Given the description of an element on the screen output the (x, y) to click on. 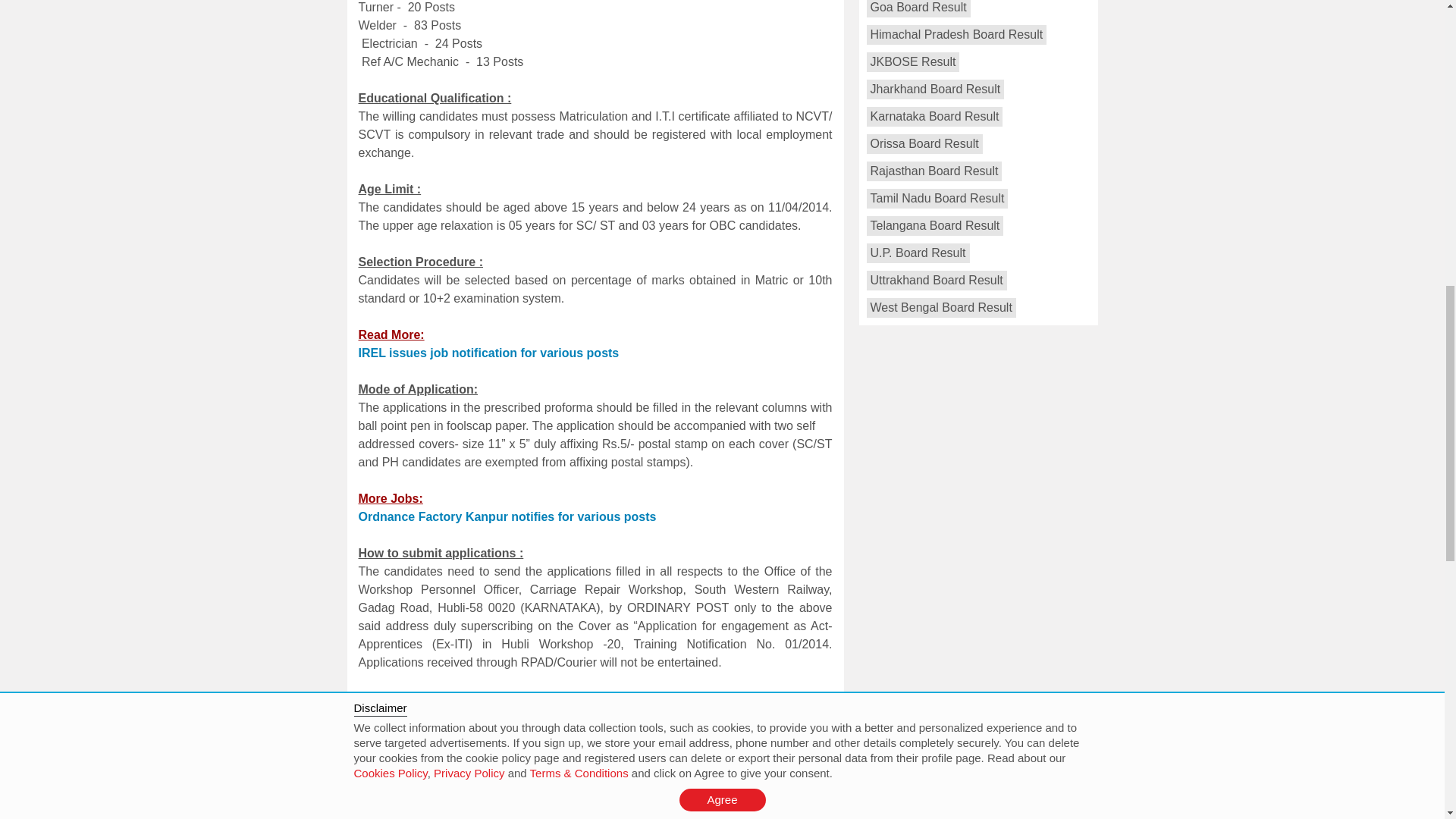
Ordnance Factory Kanpur notifies for various posts (507, 516)
IREL issues job notification for various posts (488, 352)
CLICK HERE. (603, 753)
